Given the description of an element on the screen output the (x, y) to click on. 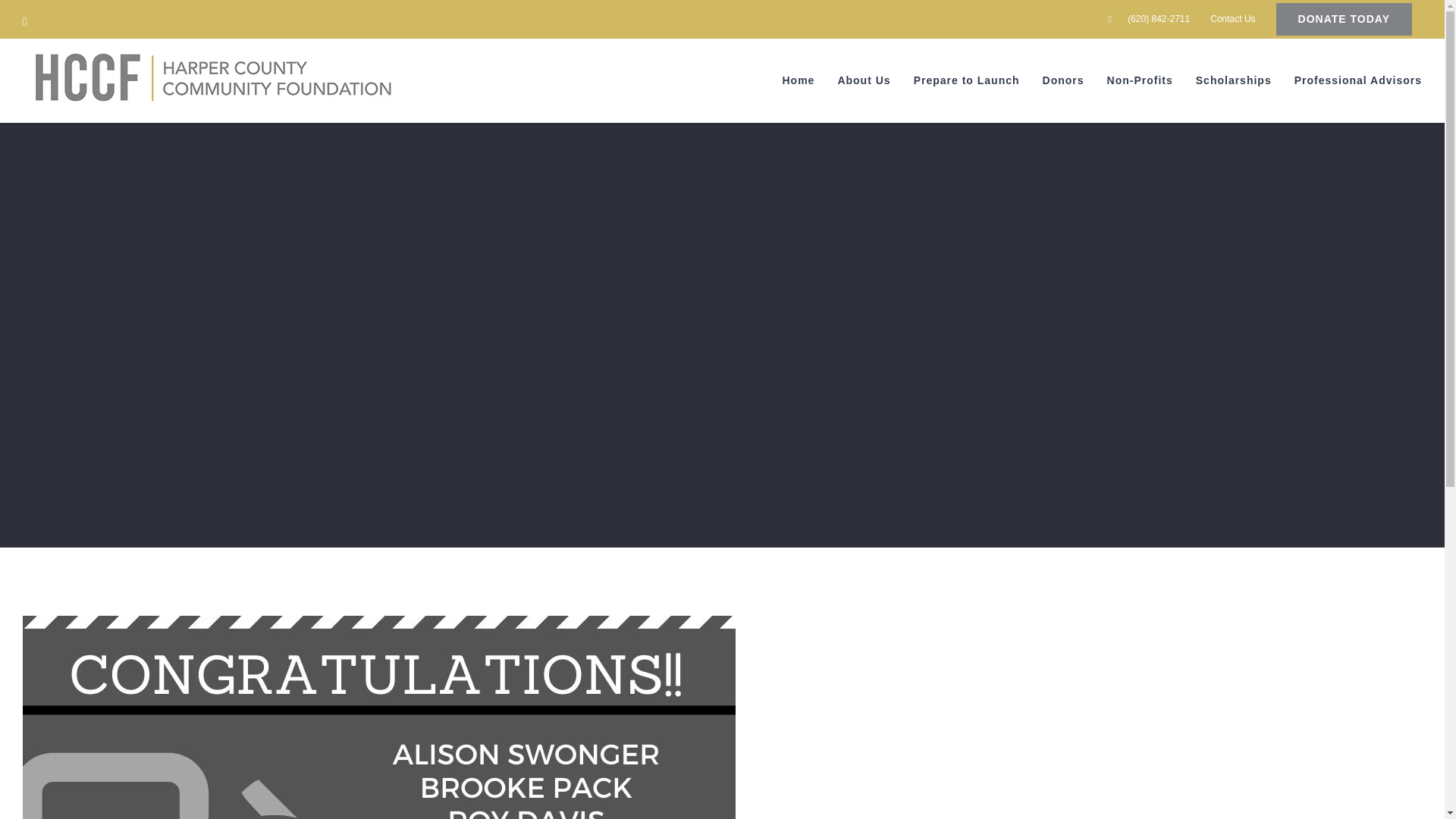
Professional Advisors (1358, 80)
DONATE TODAY (1344, 18)
Contact Us (1232, 18)
Prepare to Launch (967, 80)
Scholarships (1233, 80)
